Given the description of an element on the screen output the (x, y) to click on. 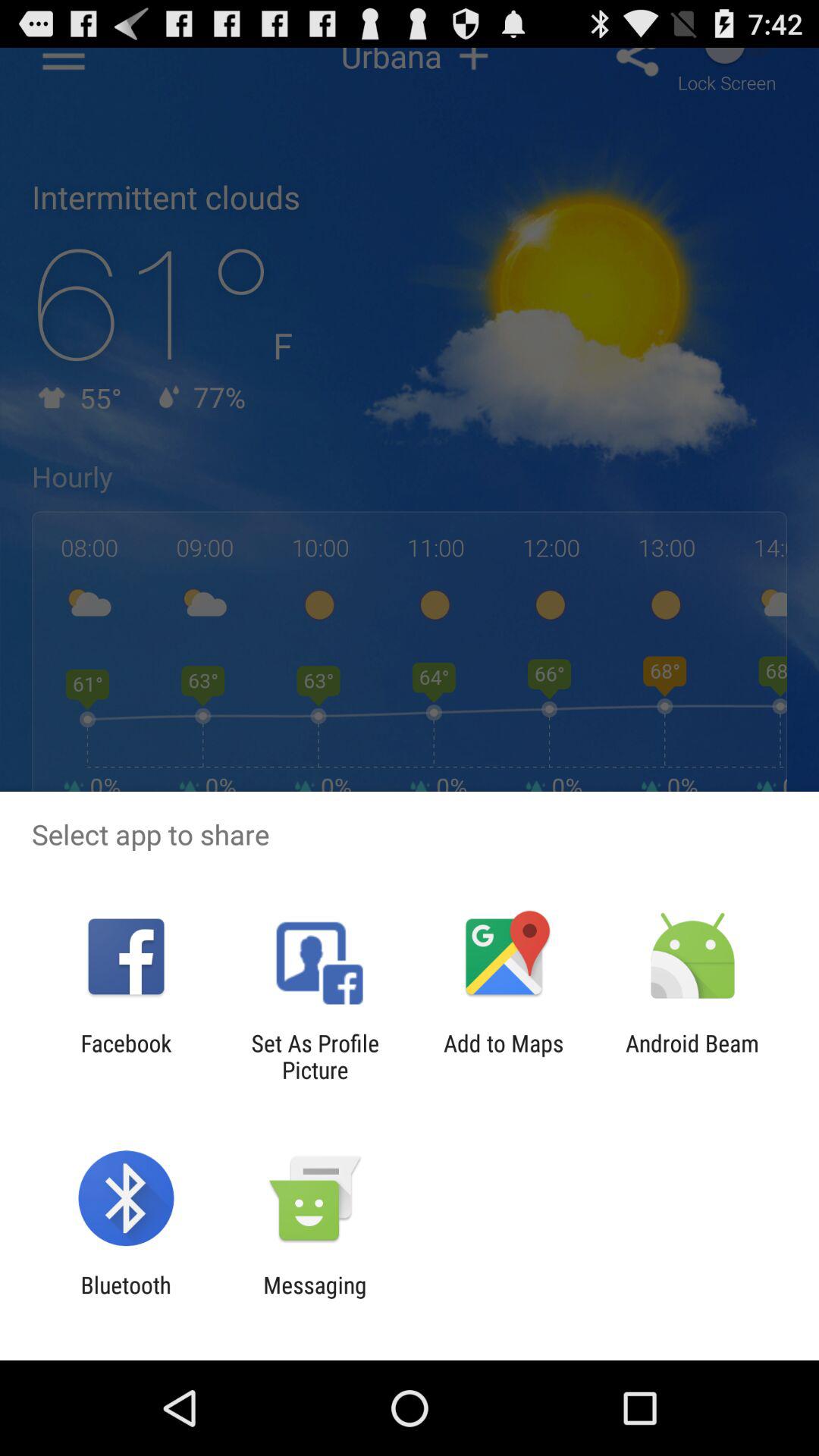
turn on the icon next to the add to maps item (314, 1056)
